Given the description of an element on the screen output the (x, y) to click on. 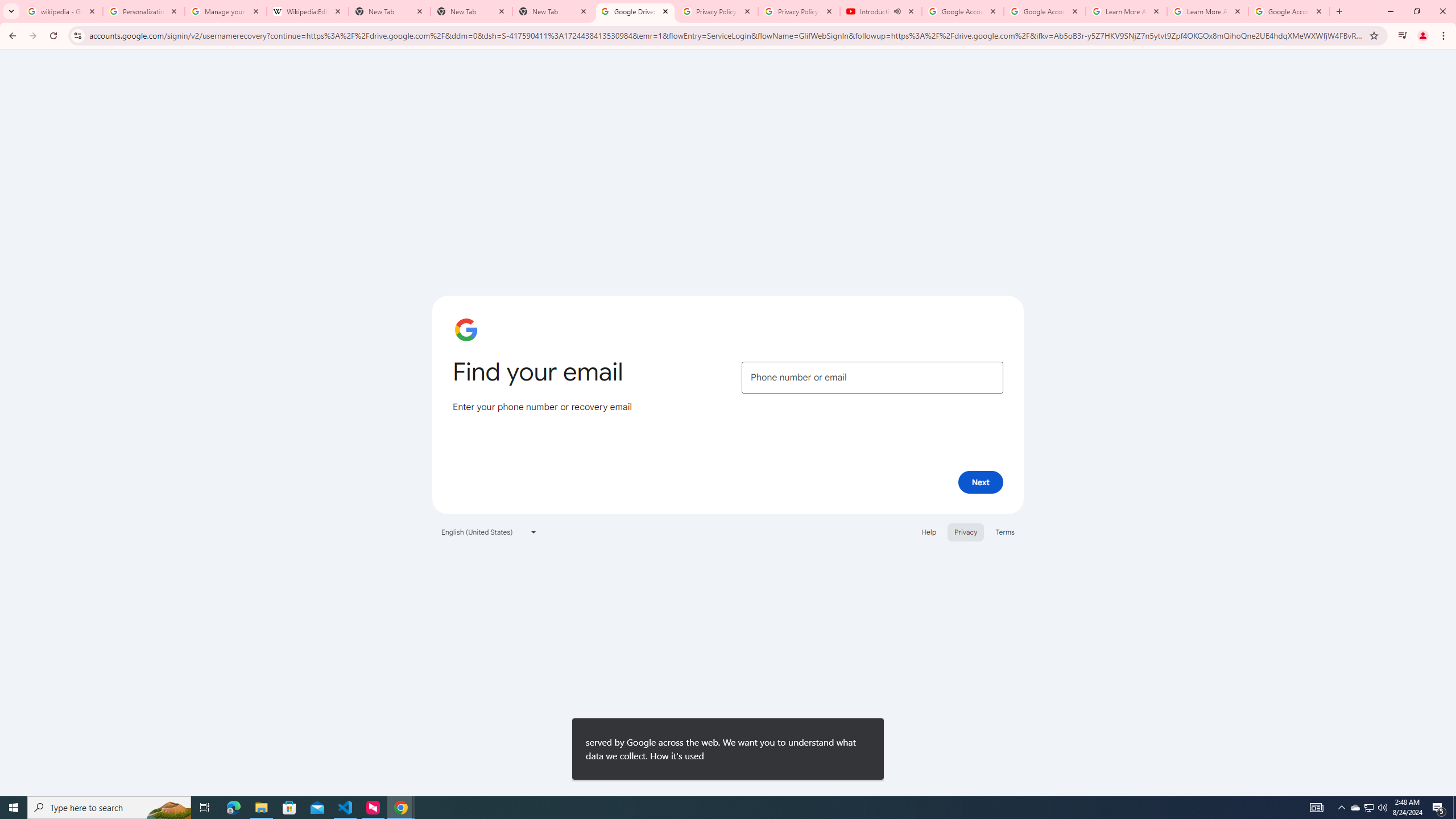
Google Account Help (1044, 11)
Personalization & Google Search results - Google Search Help (143, 11)
Phone number or email (872, 377)
New Tab (552, 11)
